Given the description of an element on the screen output the (x, y) to click on. 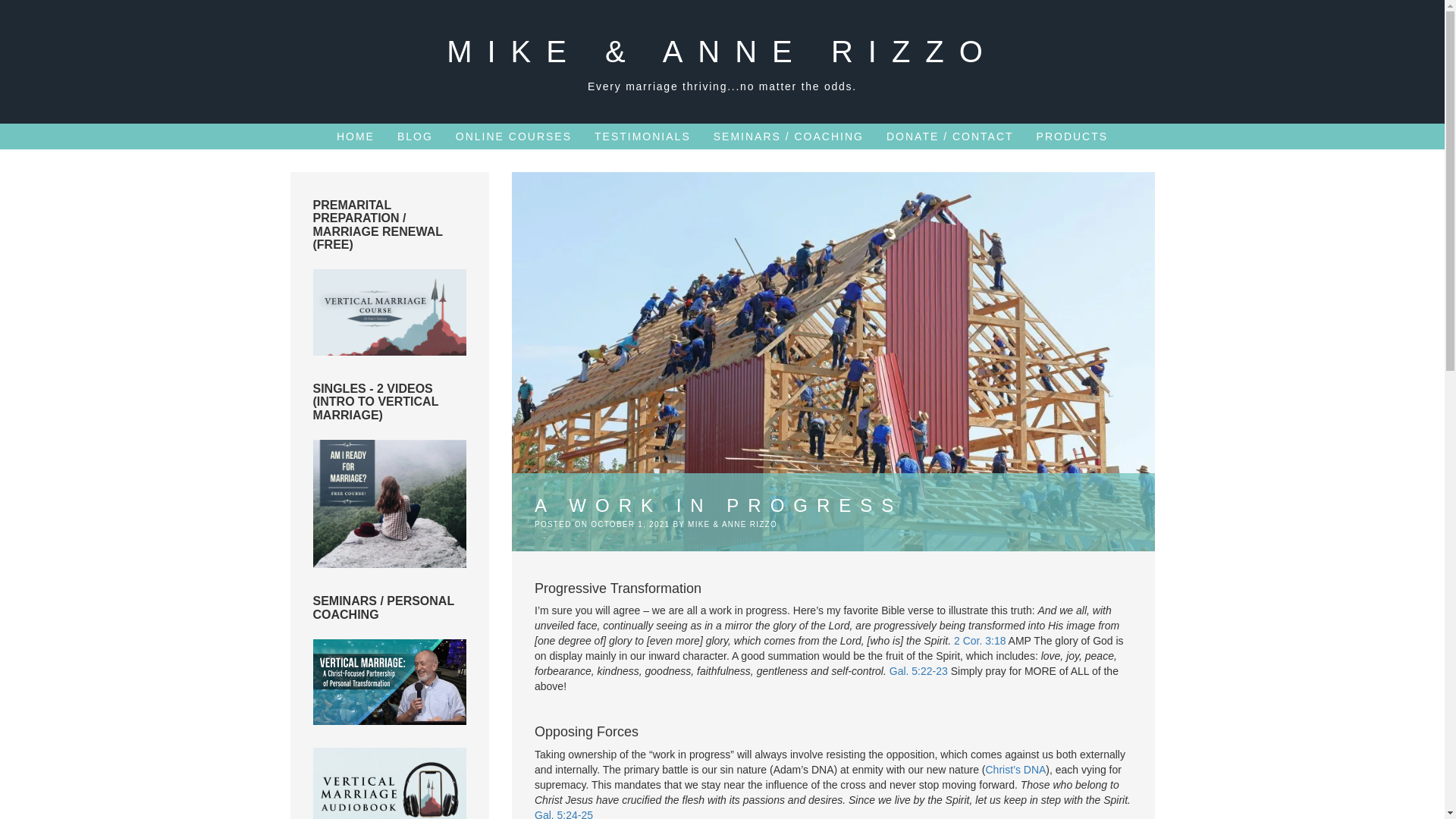
HOME (355, 136)
TESTIMONIALS (642, 136)
Gal. 5:24-25 (563, 814)
HOME (355, 136)
ONLINE COURSES (513, 136)
VIDEO CHANNEL (389, 312)
2 Cor. 3:18 (979, 640)
OCTOBER 1, 2021 (630, 524)
Vertical Marriage Seminars (389, 682)
Gal. 5:22-23 (918, 671)
